Given the description of an element on the screen output the (x, y) to click on. 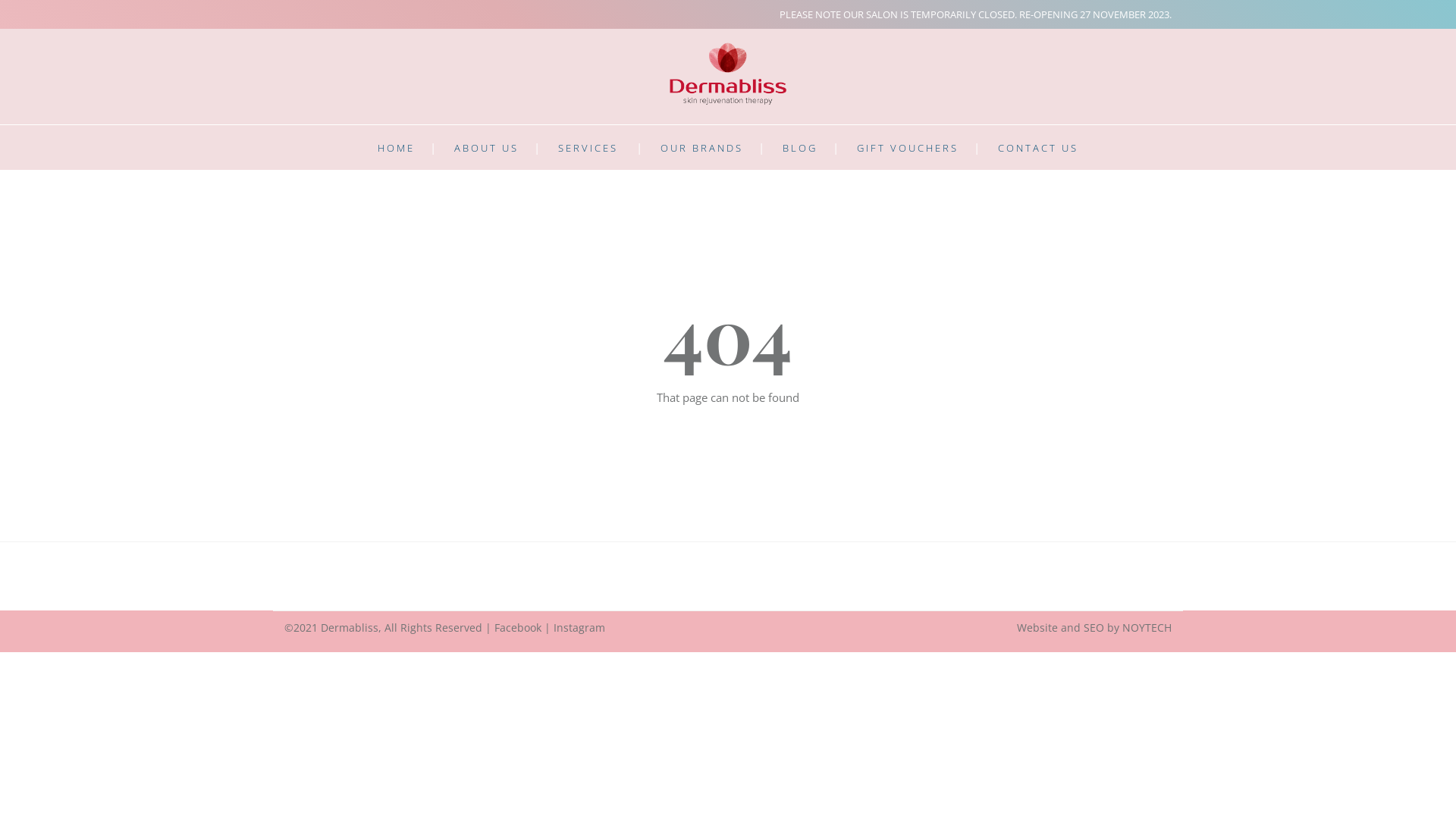
GIFT VOUCHERS Element type: text (907, 147)
CONTACT US Element type: text (1037, 147)
OUR BRANDS Element type: text (701, 147)
Website and SEO by NOYTECH Element type: text (1093, 627)
ABOUT US Element type: text (486, 147)
HOME Element type: text (395, 147)
Instagram Element type: text (579, 627)
Facebook Element type: text (517, 627)
SERVICES Element type: text (588, 147)
Search Element type: text (894, 410)
BLOG Element type: text (799, 147)
